Given the description of an element on the screen output the (x, y) to click on. 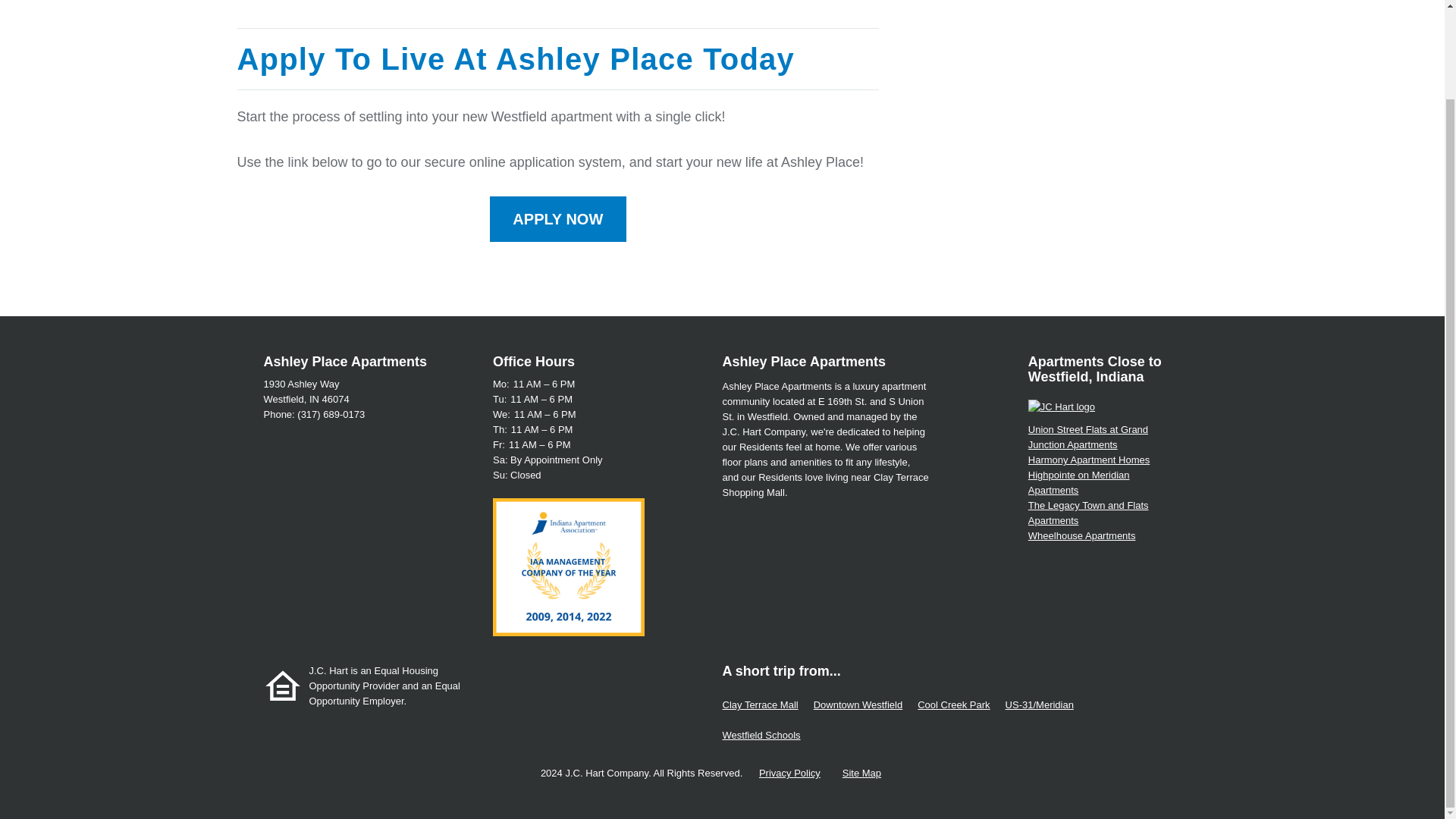
Union Street Flats at Grand Junction Apartments (1087, 437)
Expand Menu (865, 2)
Expand Menu (1124, 2)
Harmony Apartment Homes (1088, 460)
RESIDENTS (989, 2)
Expand Menu (572, 2)
AMENITIES (730, 2)
Expand Menu (681, 2)
APPLY NOW (557, 218)
GALLERY (909, 2)
